Given the description of an element on the screen output the (x, y) to click on. 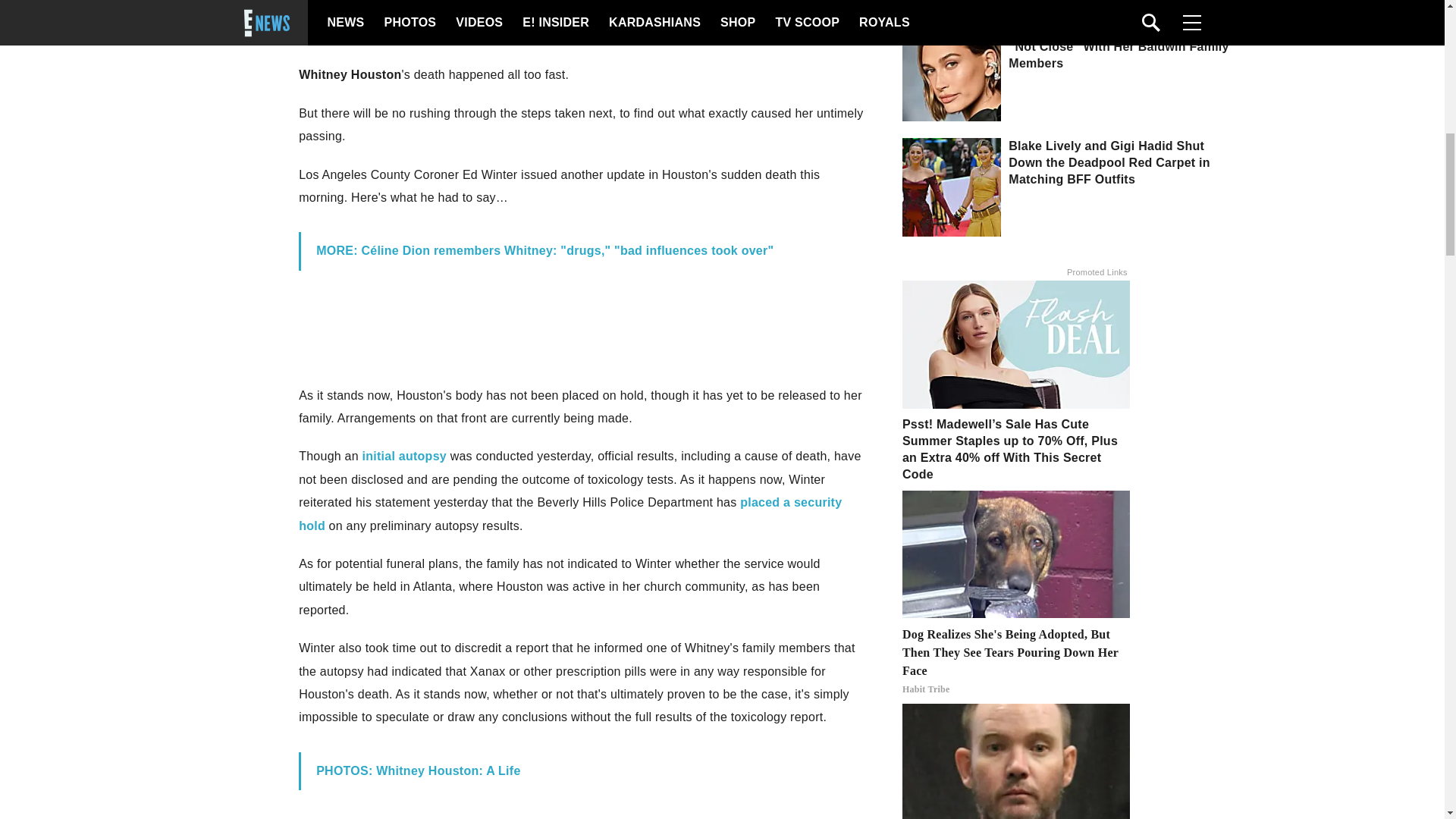
initial autopsy (404, 455)
PHOTOS: Whitney Houston: A Life (417, 770)
placed a security hold (569, 513)
